Given the description of an element on the screen output the (x, y) to click on. 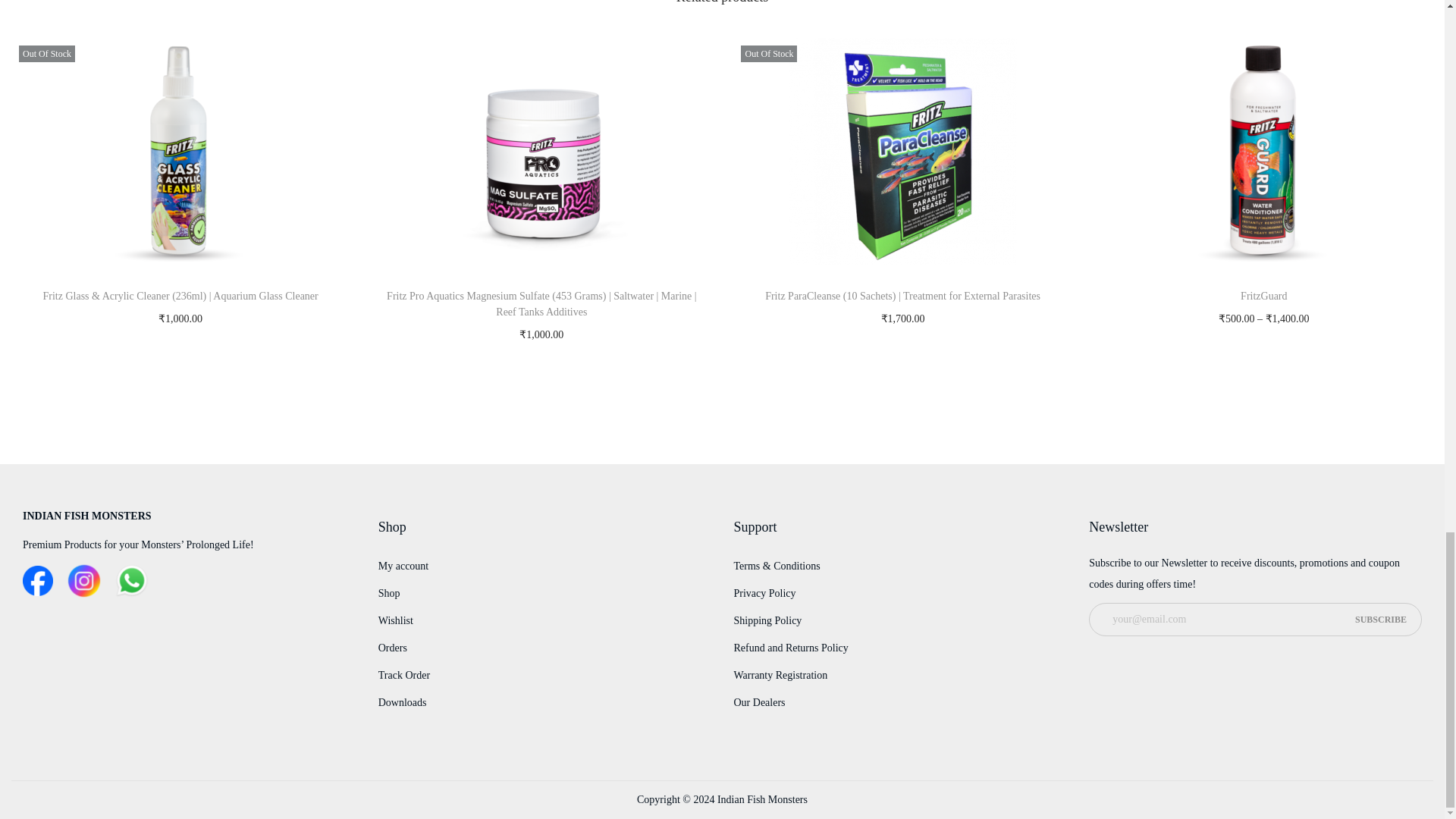
Subscribe (1380, 619)
